Given the description of an element on the screen output the (x, y) to click on. 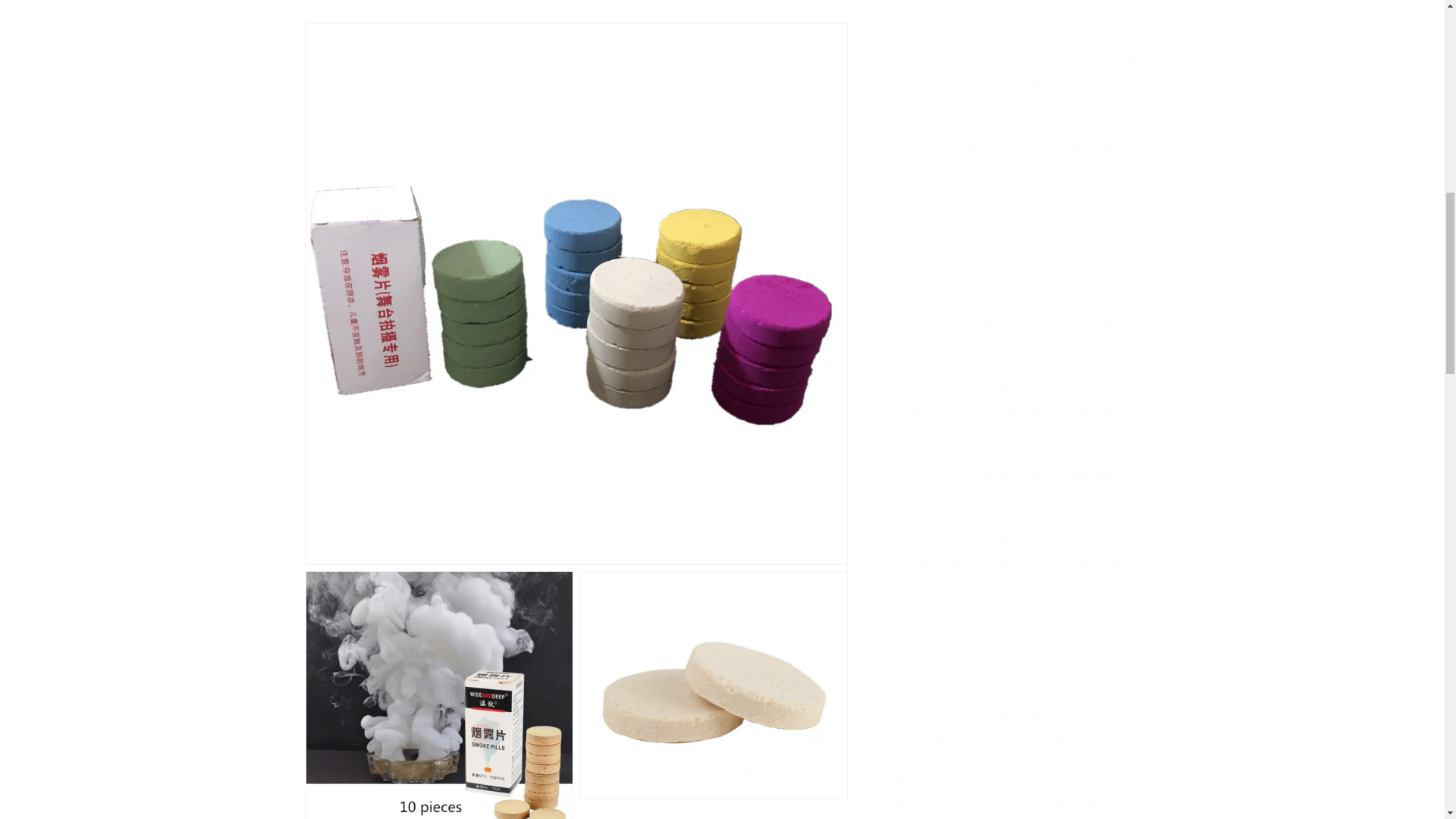
Open media 4 in modal (438, 282)
Open media 5 in modal (713, 282)
Open media 3 in modal (713, 70)
Open media 2 in modal (438, 70)
